Given the description of an element on the screen output the (x, y) to click on. 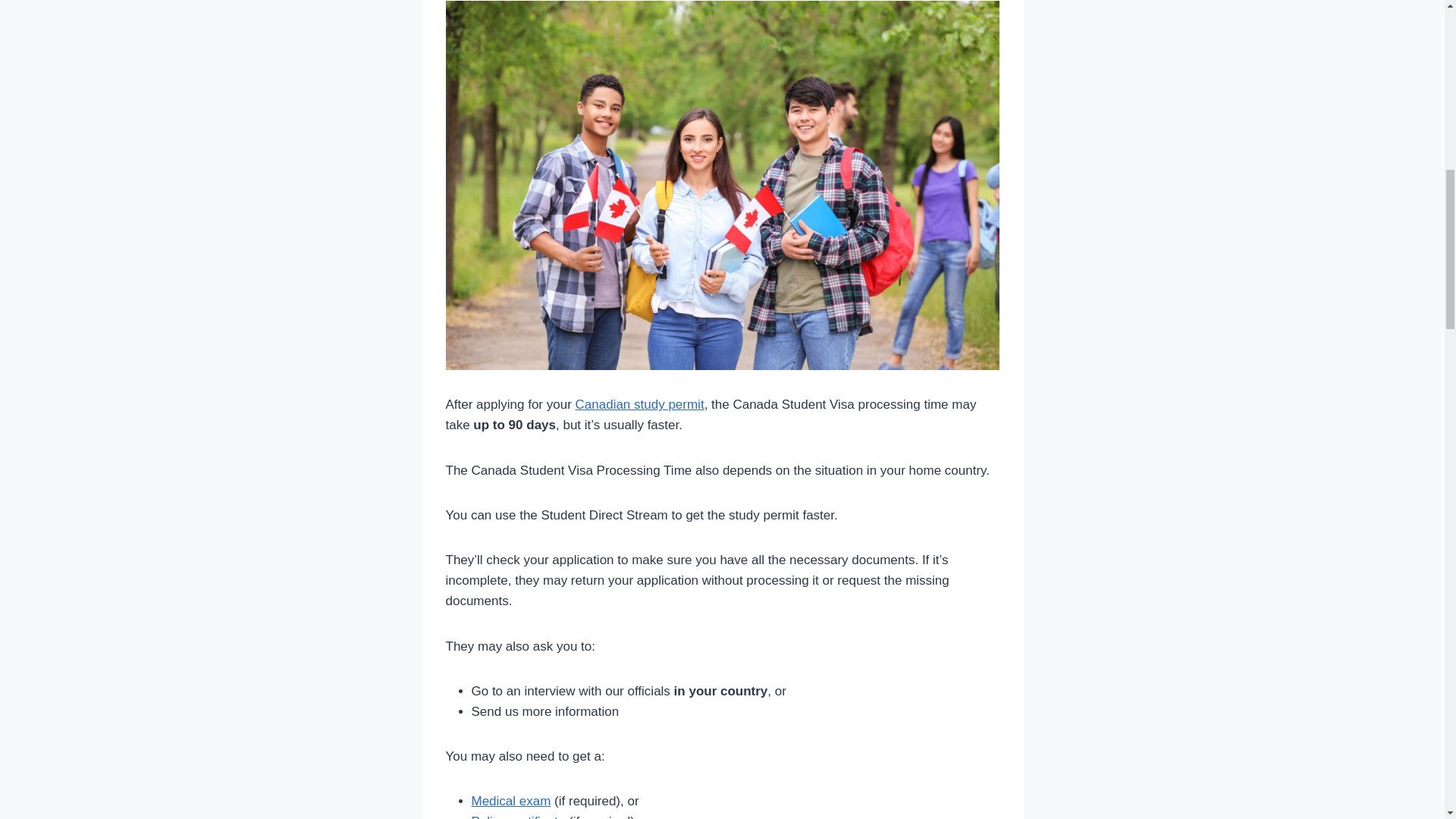
Police certificate (518, 816)
Medical exam (511, 800)
Canadian study permit (639, 404)
